Given the description of an element on the screen output the (x, y) to click on. 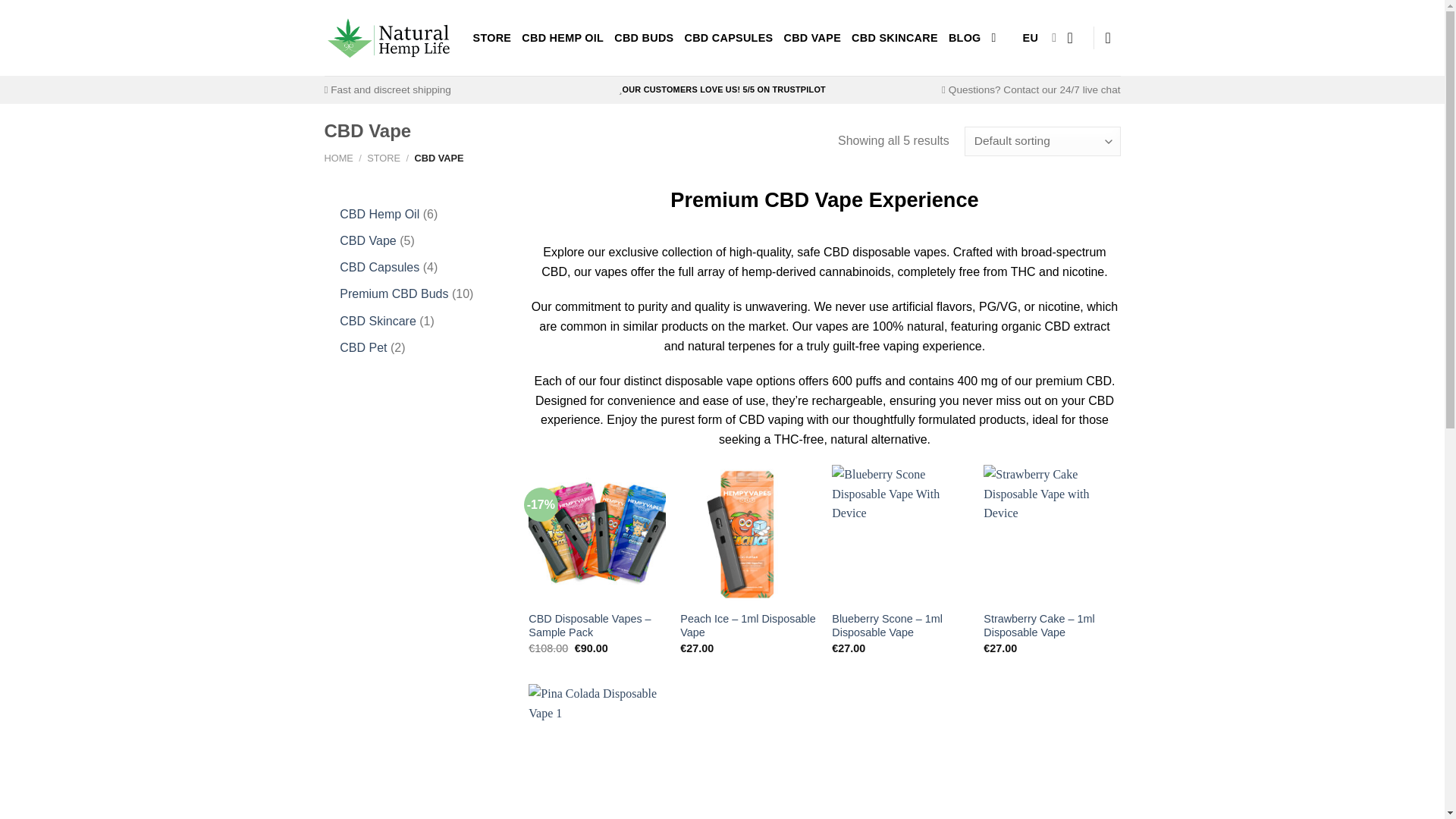
CBD Capsules (379, 267)
CBD Pet (363, 347)
EU (1040, 37)
CBD Vape (367, 240)
CBD SKINCARE (894, 37)
BLOG (965, 37)
HOME (338, 157)
CBD VAPE (812, 37)
Natural Hemp Life EU - Natural Hemp Life (386, 37)
STORE (492, 37)
